Given the description of an element on the screen output the (x, y) to click on. 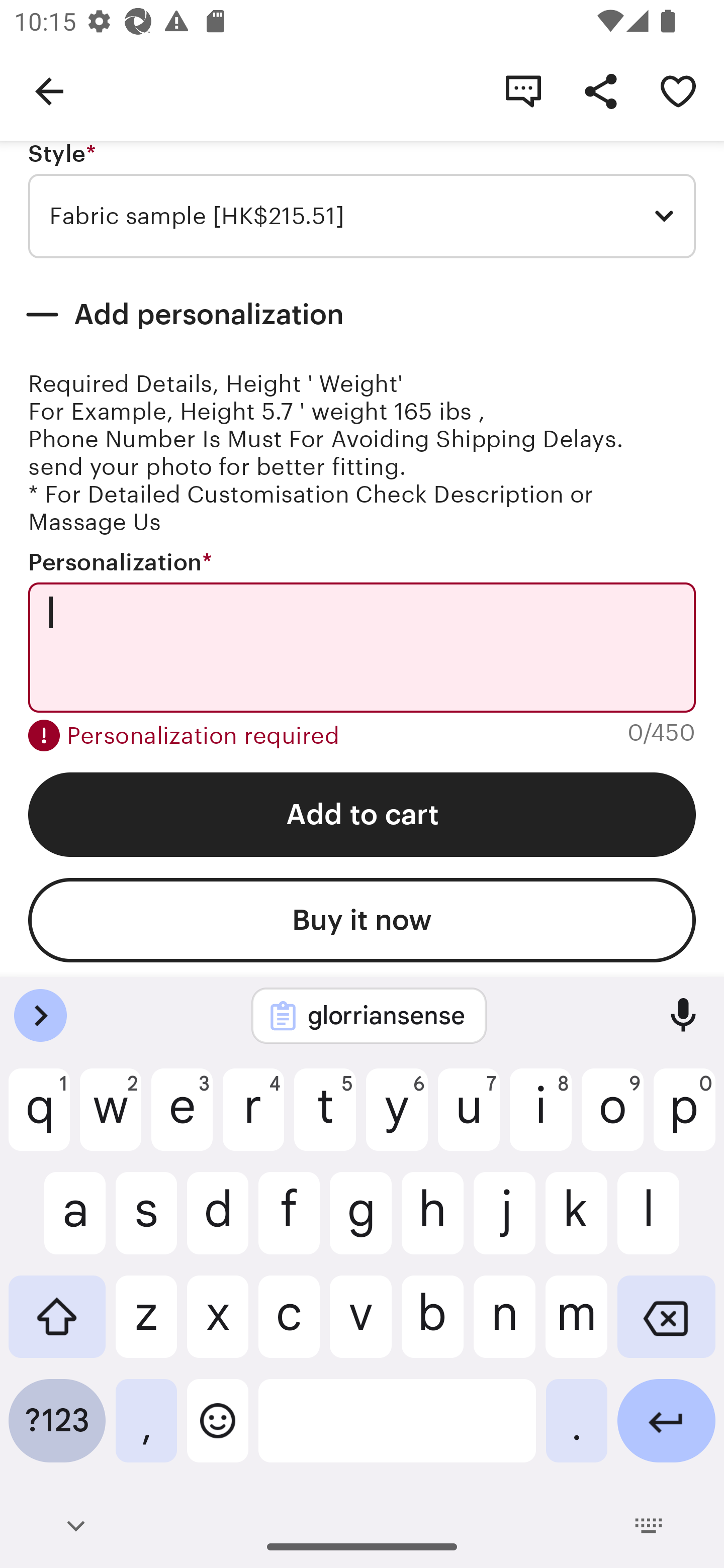
Navigate up (49, 90)
Contact shop (523, 90)
Share (600, 90)
Style * Required Fabric sample [HK$215.51] (361, 199)
Fabric sample [HK$215.51] (361, 216)
Add personalization Add personalization Required (362, 314)
Add to cart (361, 814)
Buy it now (361, 920)
